Given the description of an element on the screen output the (x, y) to click on. 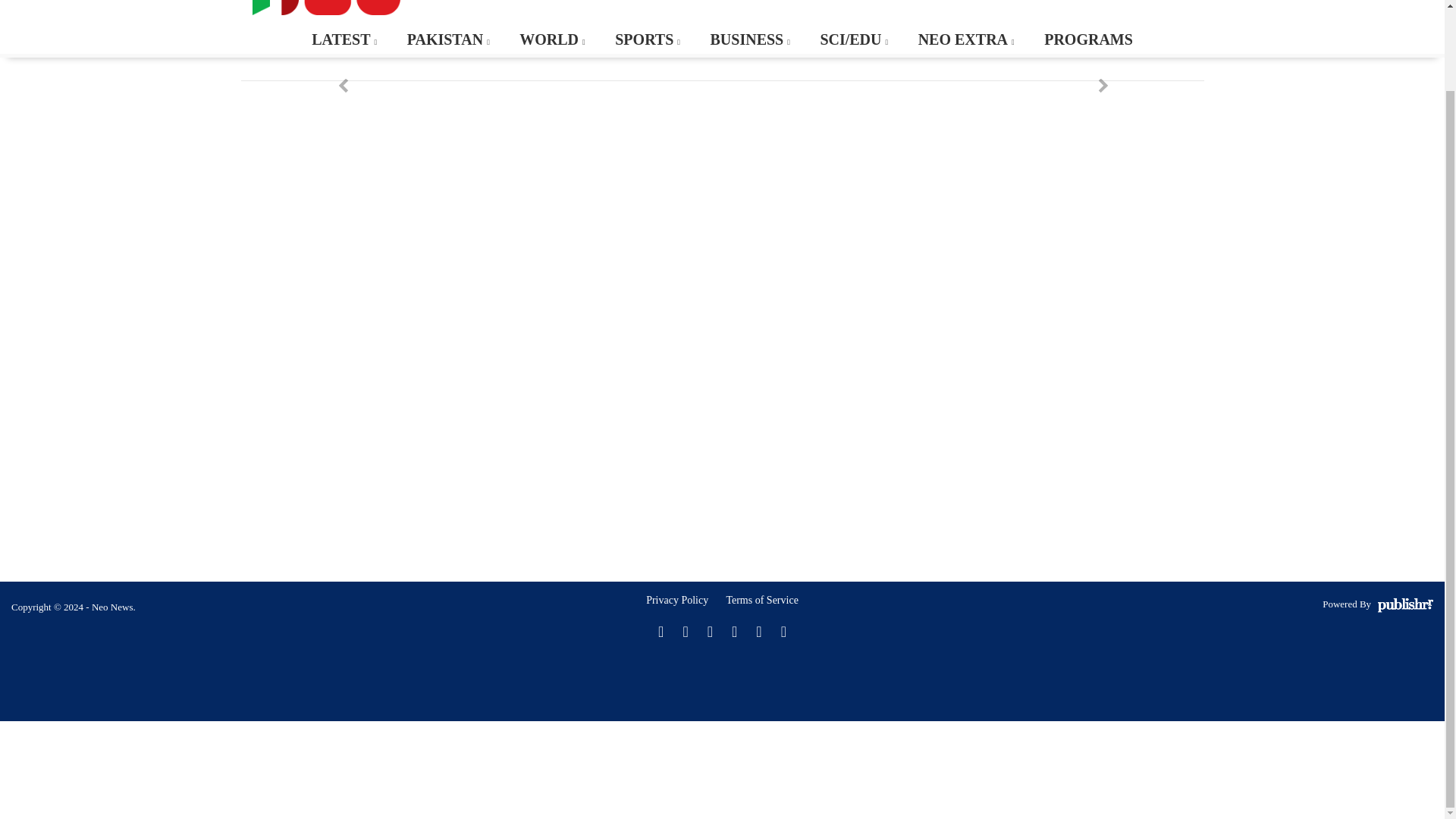
Skip to content (71, 31)
SKIP TO CONTENT (71, 31)
WORLD (549, 39)
LATEST (342, 39)
PAKISTAN (446, 39)
